Given the description of an element on the screen output the (x, y) to click on. 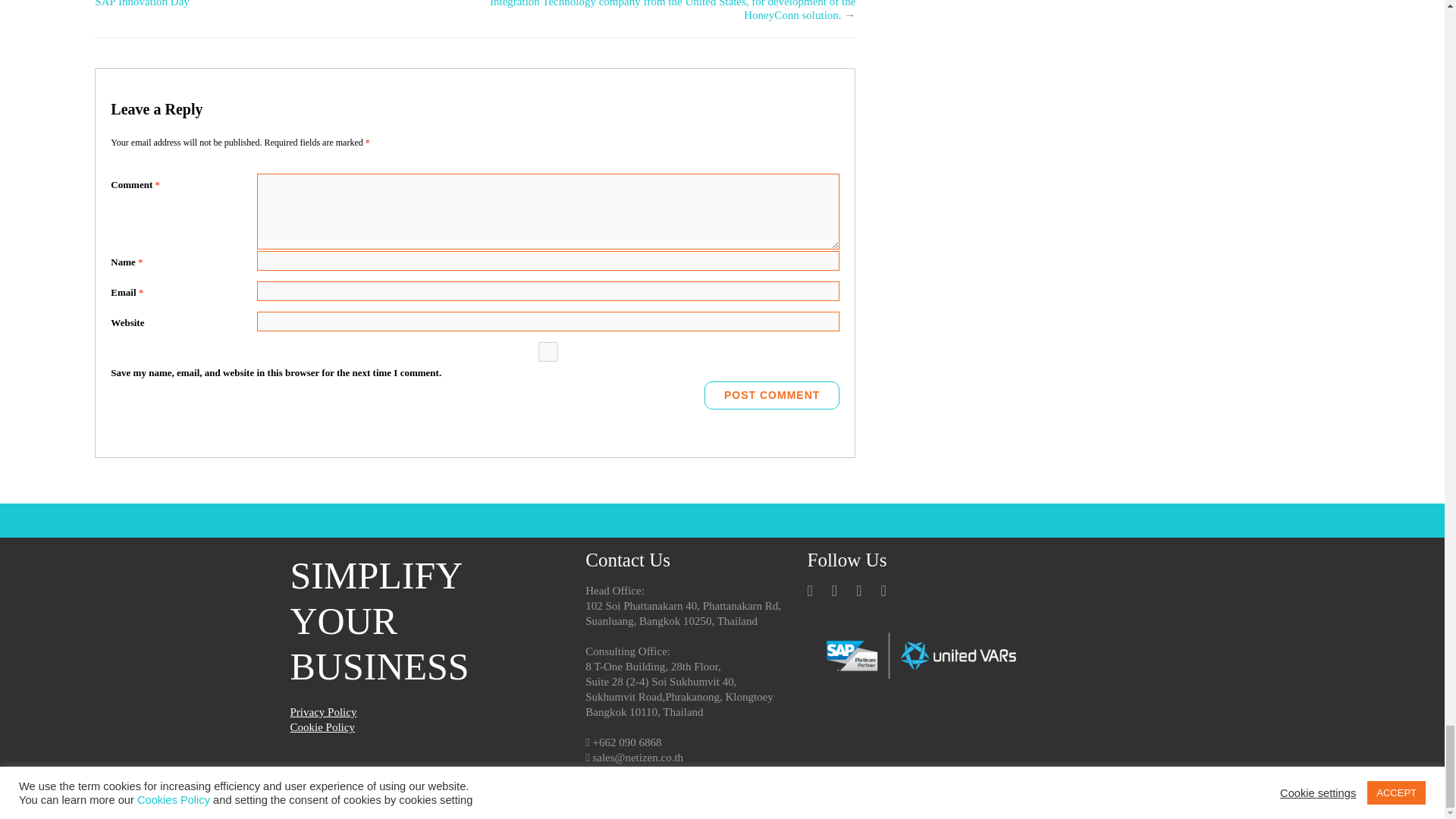
Post Comment (772, 395)
Post Comment (772, 395)
yes (548, 351)
